Given the description of an element on the screen output the (x, y) to click on. 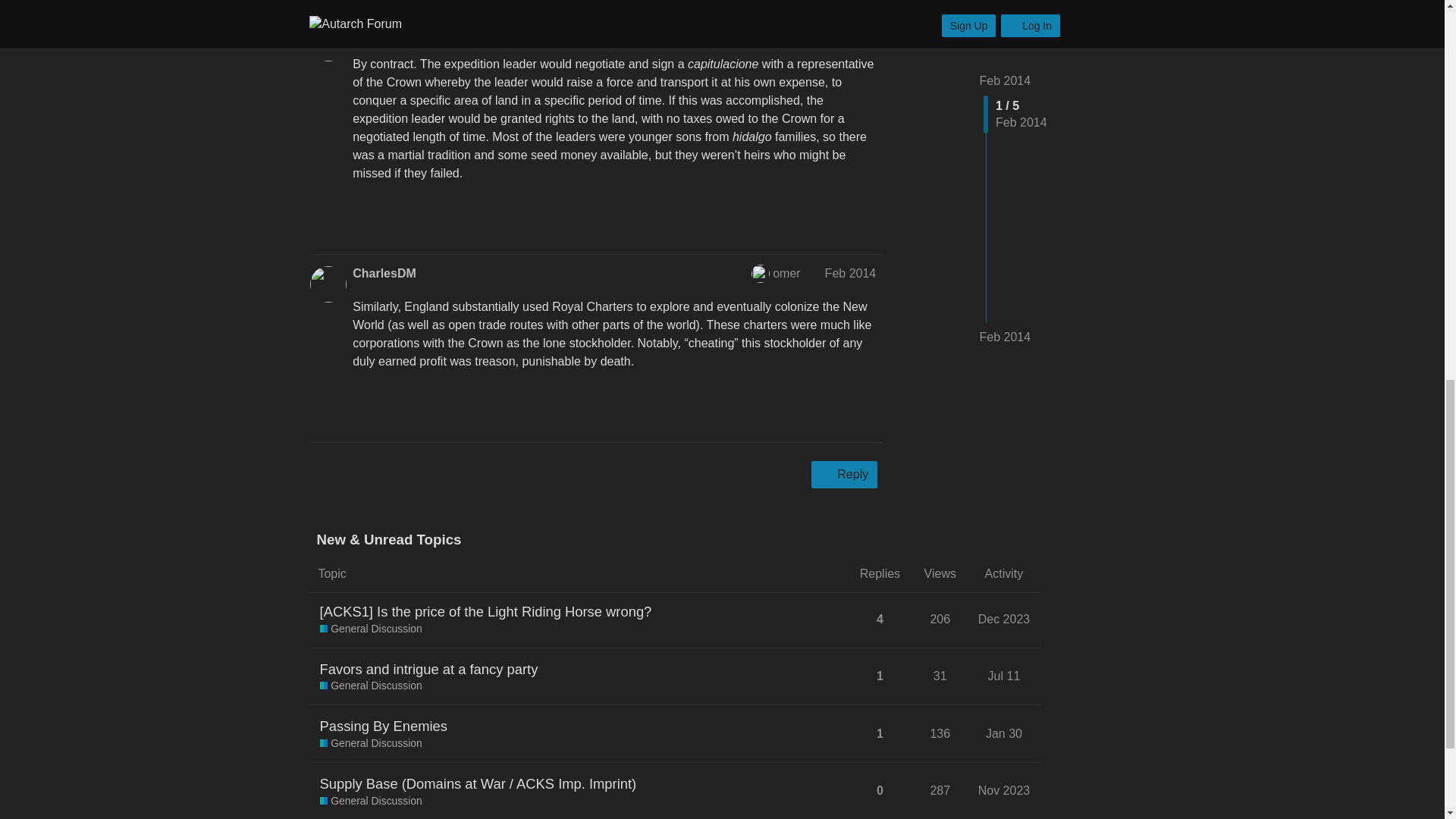
Feb 2014 (850, 273)
CharlesDM (384, 273)
Antiquities (383, 30)
Feb 2014 (850, 30)
omer (767, 273)
